Given the description of an element on the screen output the (x, y) to click on. 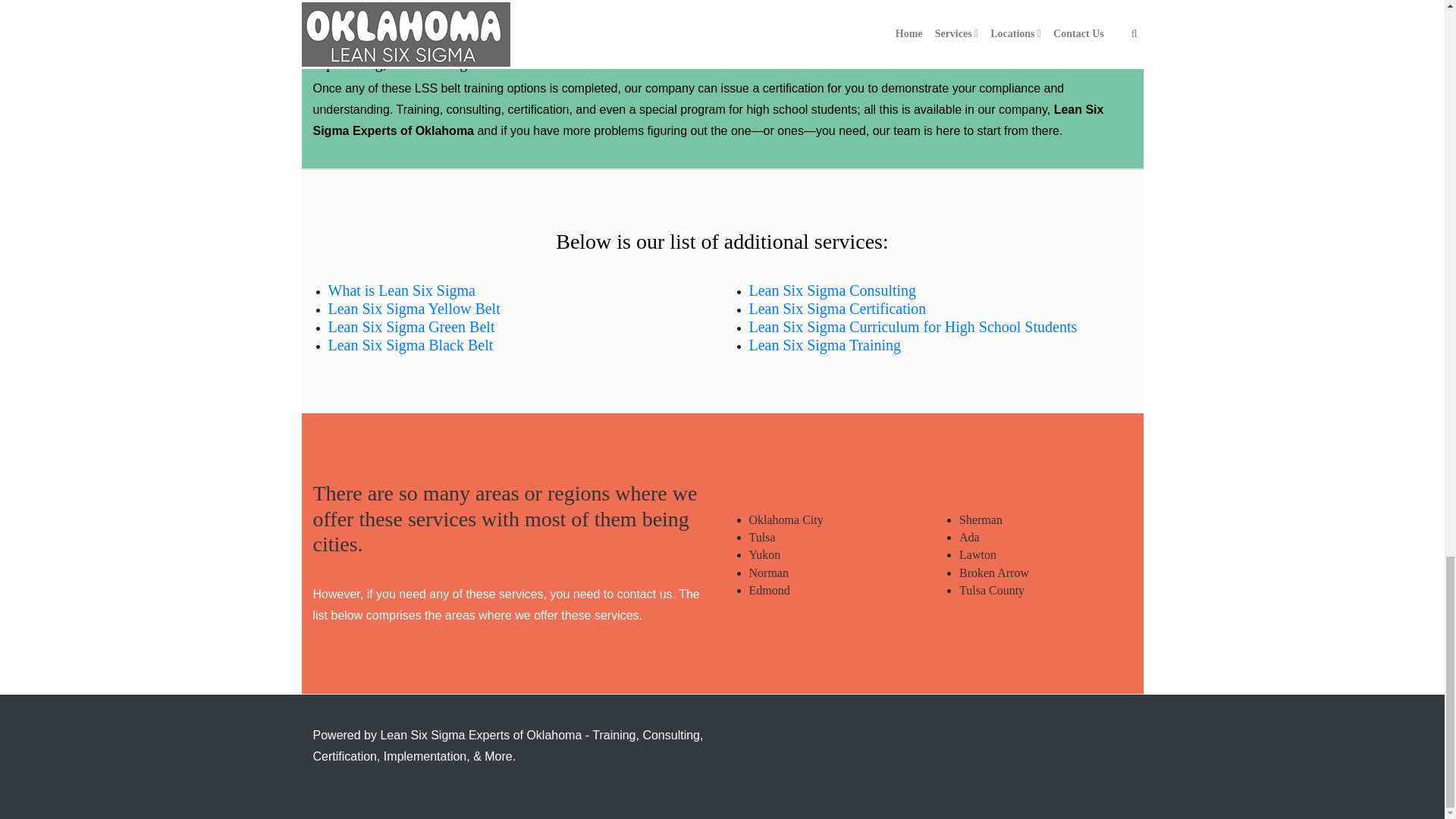
Lean Six Sigma Curriculum for High School Students (913, 326)
Lean Six Sigma Training (825, 344)
What is Lean Six Sigma (400, 289)
Lean Six Sigma Certification (837, 308)
Lean Six Sigma Green Belt (411, 326)
Lean Six Sigma Consulting (833, 289)
Oklahoma City (786, 519)
Lean Six Sigma Black Belt (410, 344)
Lean Six Sigma Yellow Belt (413, 308)
